Given the description of an element on the screen output the (x, y) to click on. 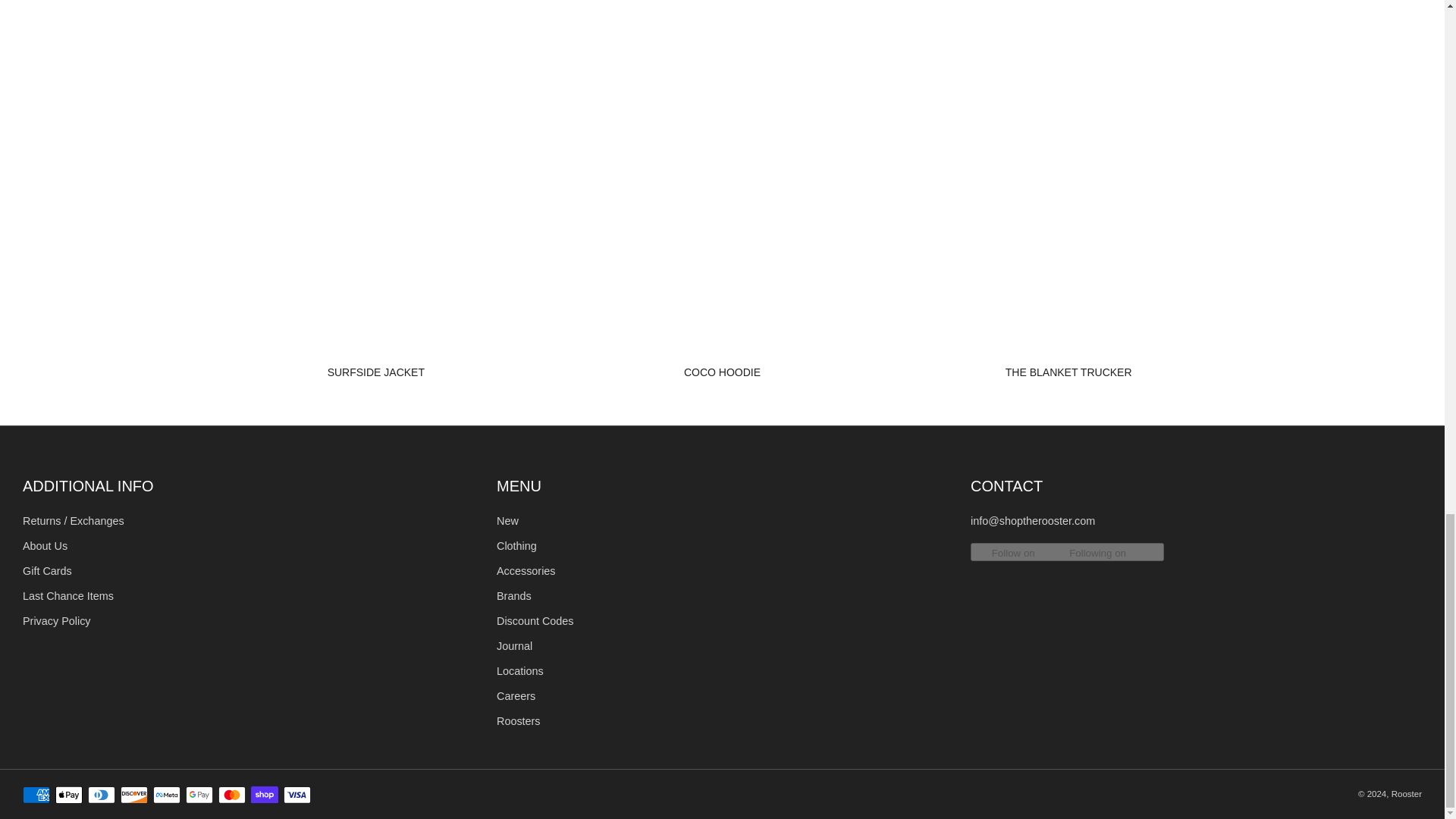
Surfside Jacket (376, 372)
Coco Hoodie (721, 372)
The Blanket Trucker (1068, 372)
